Given the description of an element on the screen output the (x, y) to click on. 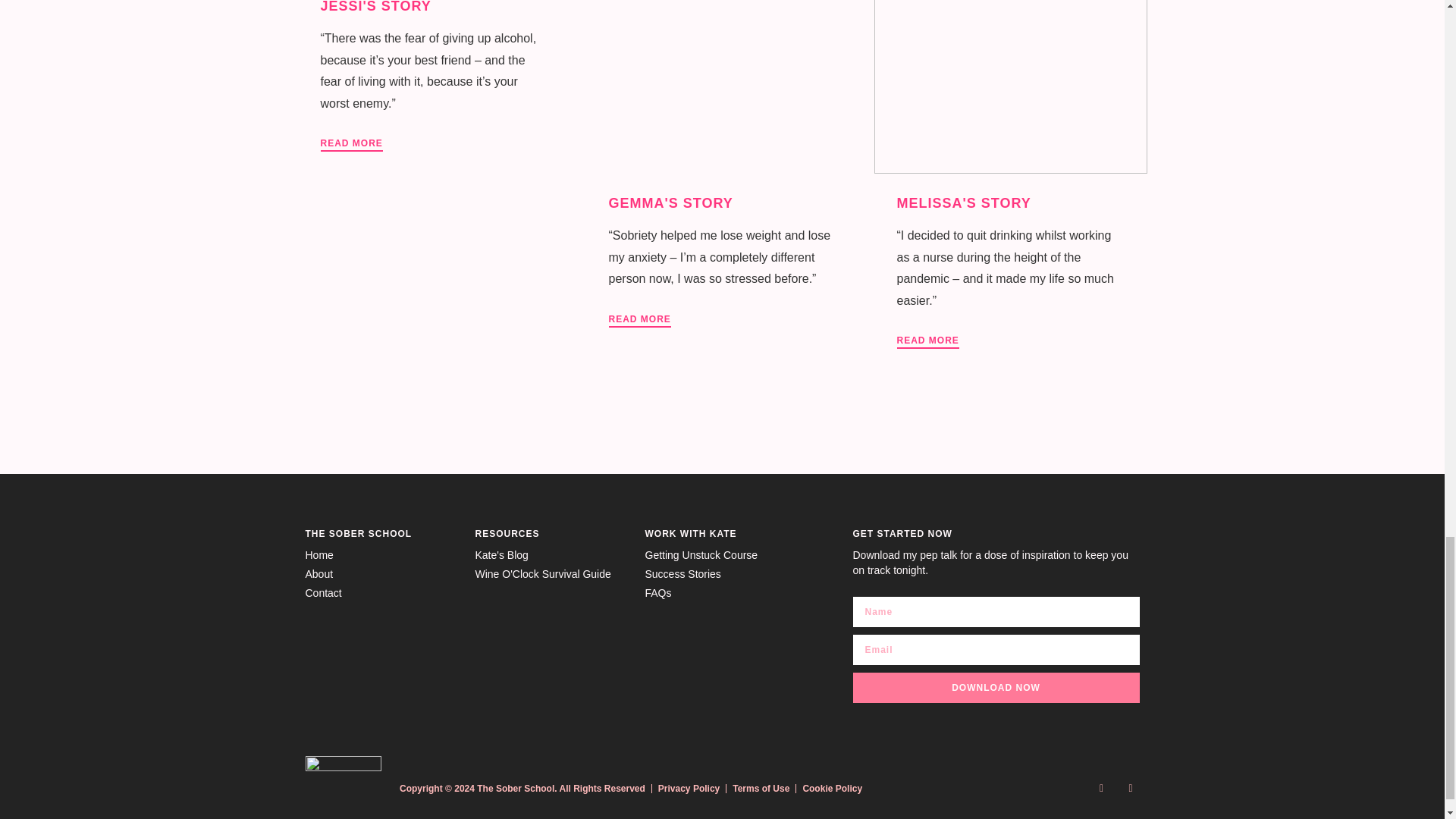
Success Stories (722, 574)
READ MORE (638, 319)
Terms of Use (760, 788)
Wine O'Clock Survival Guide (551, 574)
READ MORE (927, 340)
READ MORE (350, 143)
Kate's Blog (551, 555)
Getting Unstuck Course (722, 555)
Cookie Policy (831, 788)
Home (382, 555)
